Given the description of an element on the screen output the (x, y) to click on. 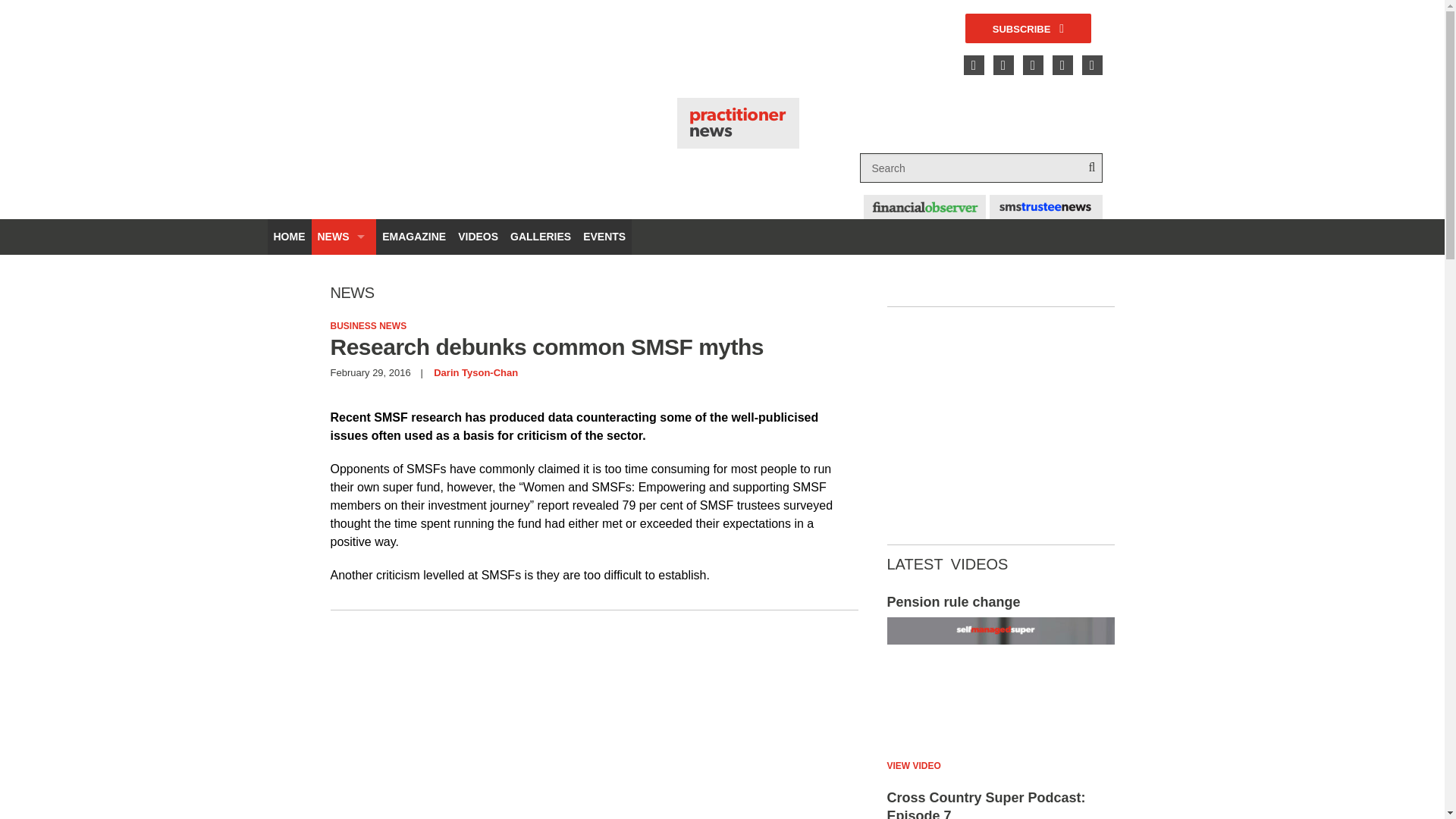
NEWS (343, 236)
3rd party ad content (618, 47)
3rd party ad content (593, 727)
Darin Tyson-Chan (475, 372)
AUDITING (343, 307)
SUBSCRIBE (1027, 28)
Posts by Darin Tyson-Chan (475, 372)
SMS Trustee News (1000, 804)
EVENTS (1046, 206)
